Given the description of an element on the screen output the (x, y) to click on. 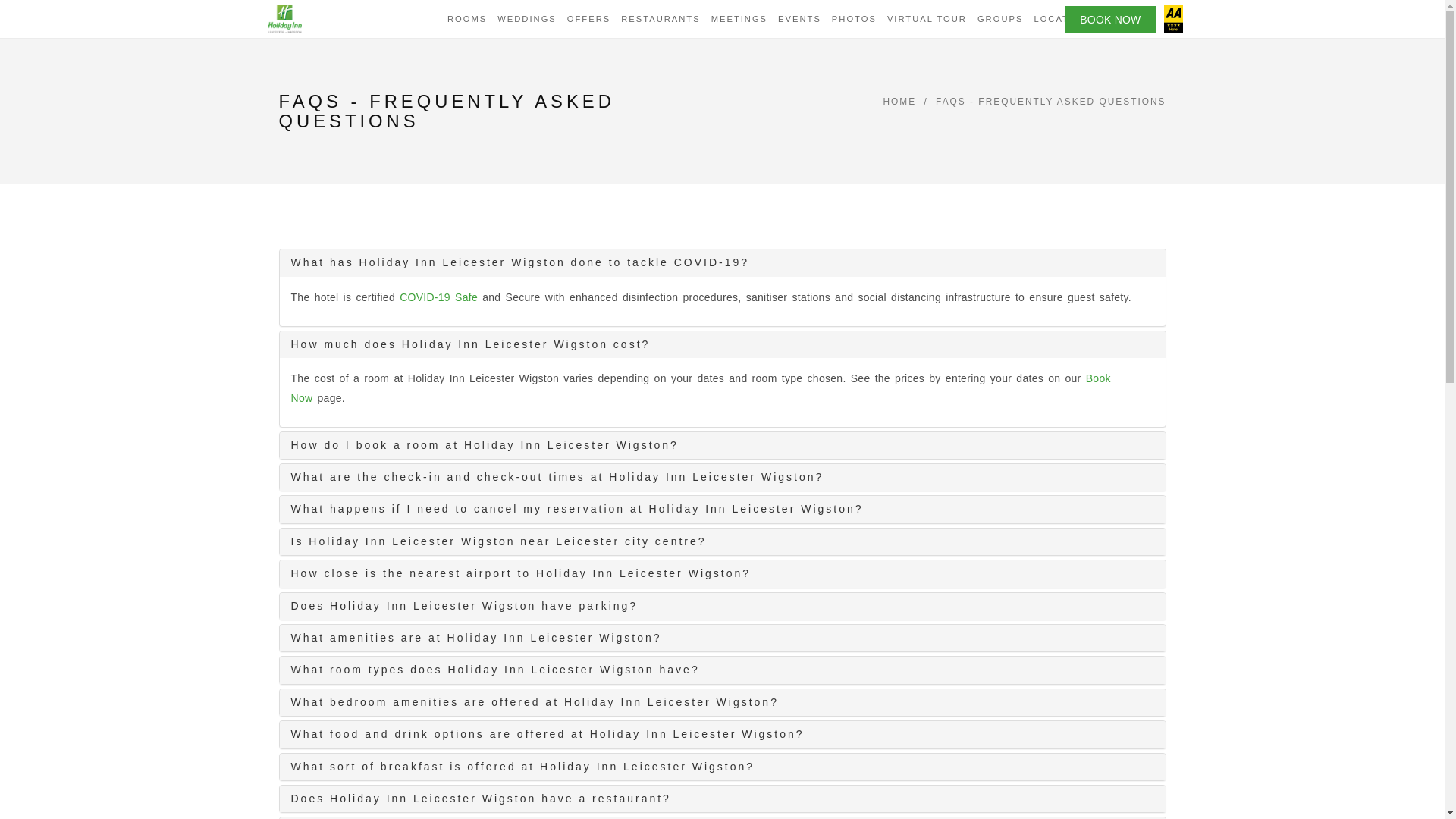
Is Holiday Inn Leicester Wigston near Leicester city centre? (722, 541)
Does Holiday Inn Leicester Wigston have parking? (722, 605)
EVENTS (800, 18)
VIRTUAL TOUR (927, 18)
How do I book a room at Holiday Inn Leicester Wigston? (722, 445)
Book Now (700, 388)
ROOMS (467, 18)
OFFERS (588, 18)
PHOTOS (854, 18)
HOME (898, 101)
LOCATION (1060, 18)
BOOK NOW (1110, 18)
FAQS - FREQUENTLY ASKED QUESTIONS (1051, 101)
